Given the description of an element on the screen output the (x, y) to click on. 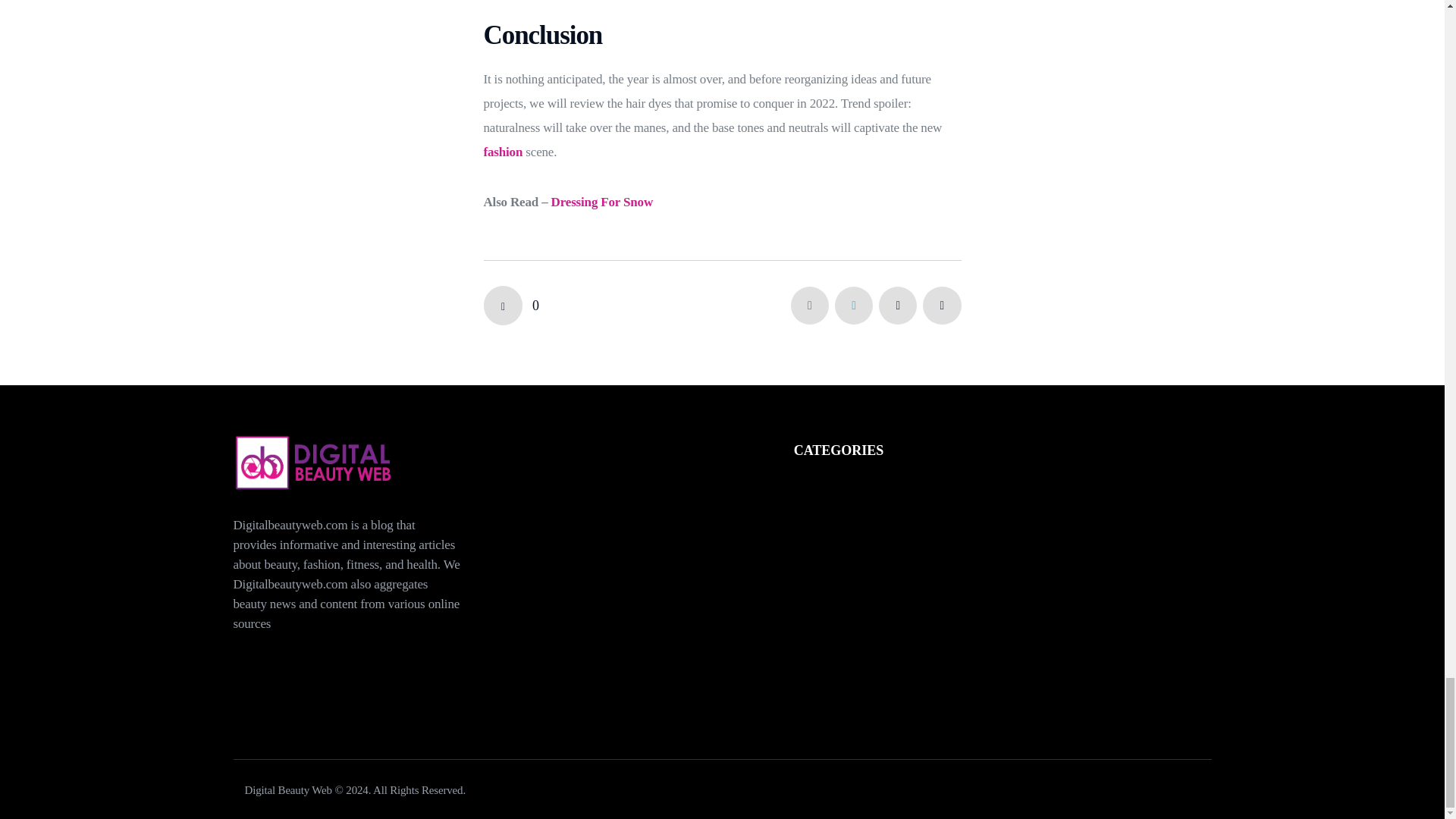
Copy URL to clipboard (941, 305)
Like (511, 305)
